Given the description of an element on the screen output the (x, y) to click on. 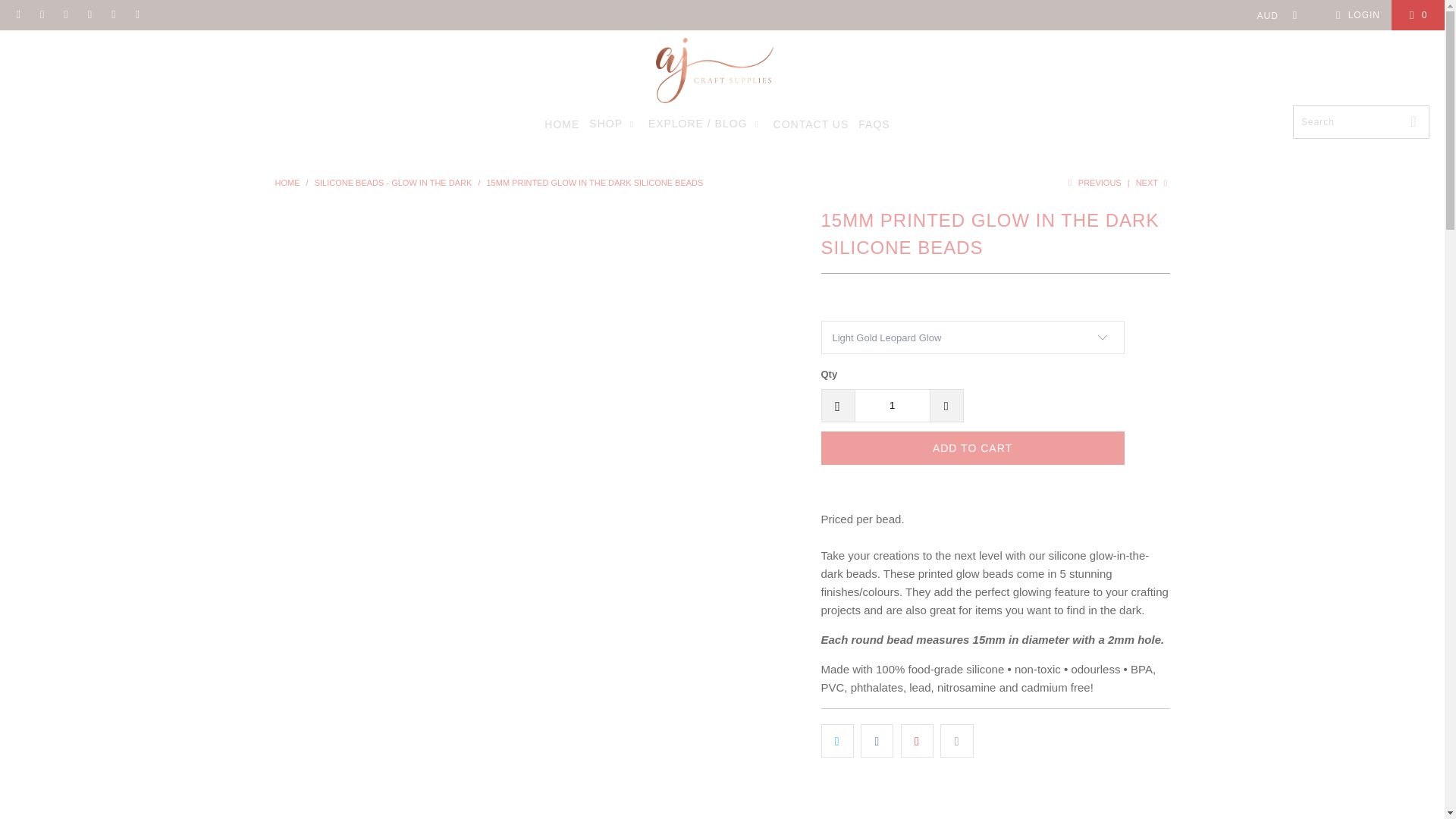
AJ Craft Supplies on Pinterest (89, 14)
Email this to a friend (956, 740)
Next (1152, 182)
AJ Craft Supplies (287, 182)
AJ Craft Supplies on Instagram (65, 14)
My Account  (1355, 14)
AJ Craft Supplies on Facebook (41, 14)
1 (891, 405)
Email AJ Craft Supplies (17, 14)
Previous (1092, 182)
AUD (1272, 15)
Share this on Twitter (837, 740)
AJ Craft Supplies (714, 71)
AJ Craft Supplies on TikTok (112, 14)
Silicone Beads - Glow in the Dark (392, 182)
